Given the description of an element on the screen output the (x, y) to click on. 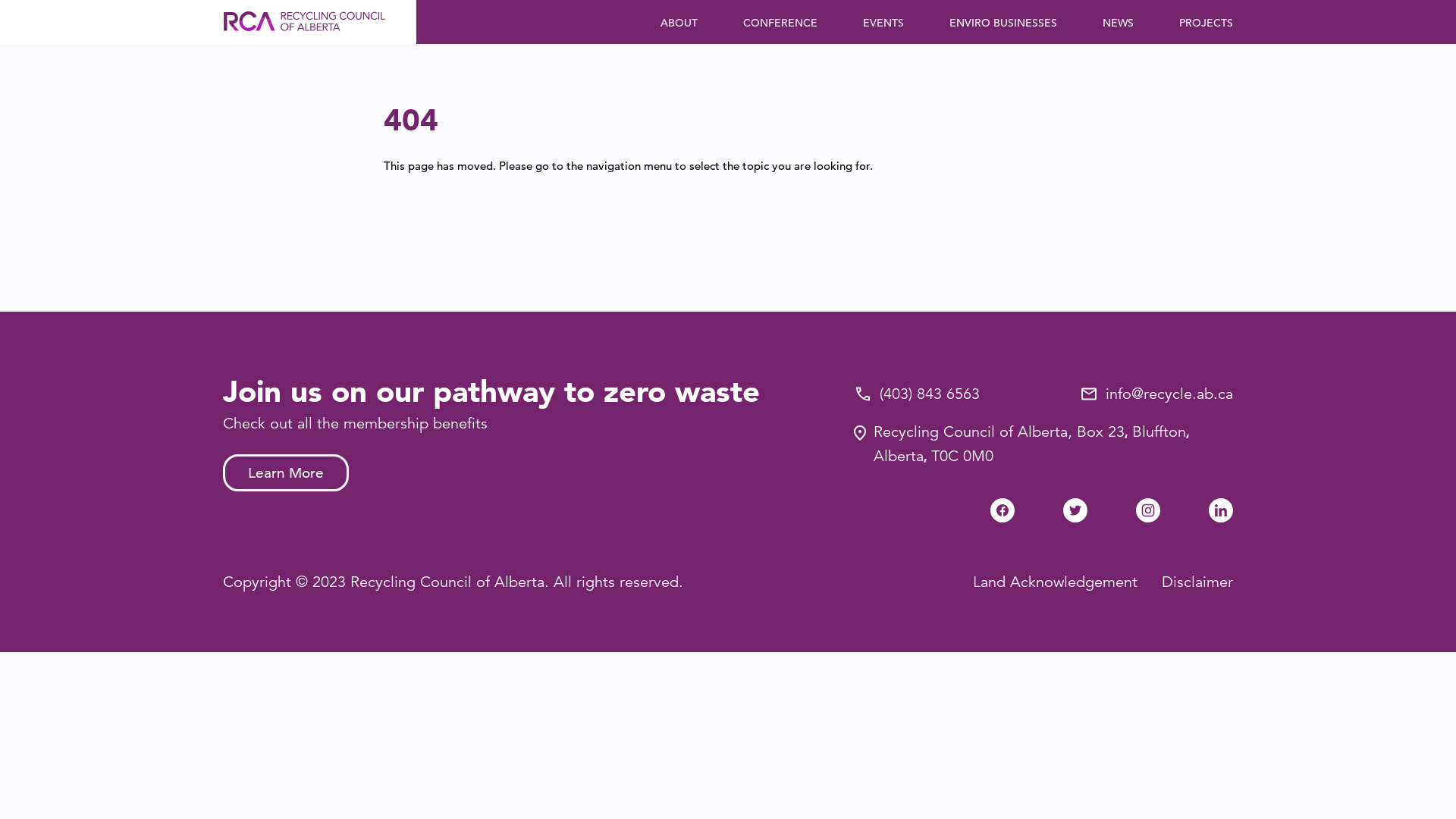
NEWS Element type: text (1117, 22)
ABOUT Element type: text (678, 22)
ENVIRO BUSINESSES Element type: text (1003, 22)
Recycling Council of Alberta Logo Element type: text (303, 21)
Land Acknowledgement Element type: text (1054, 581)
info@recycle.ab.ca Element type: text (1169, 393)
EVENTS Element type: text (882, 22)
Disclaimer Element type: text (1197, 581)
Learn More Element type: text (285, 472)
PROJECTS Element type: text (1206, 22)
CONFERENCE Element type: text (780, 22)
